Given the description of an element on the screen output the (x, y) to click on. 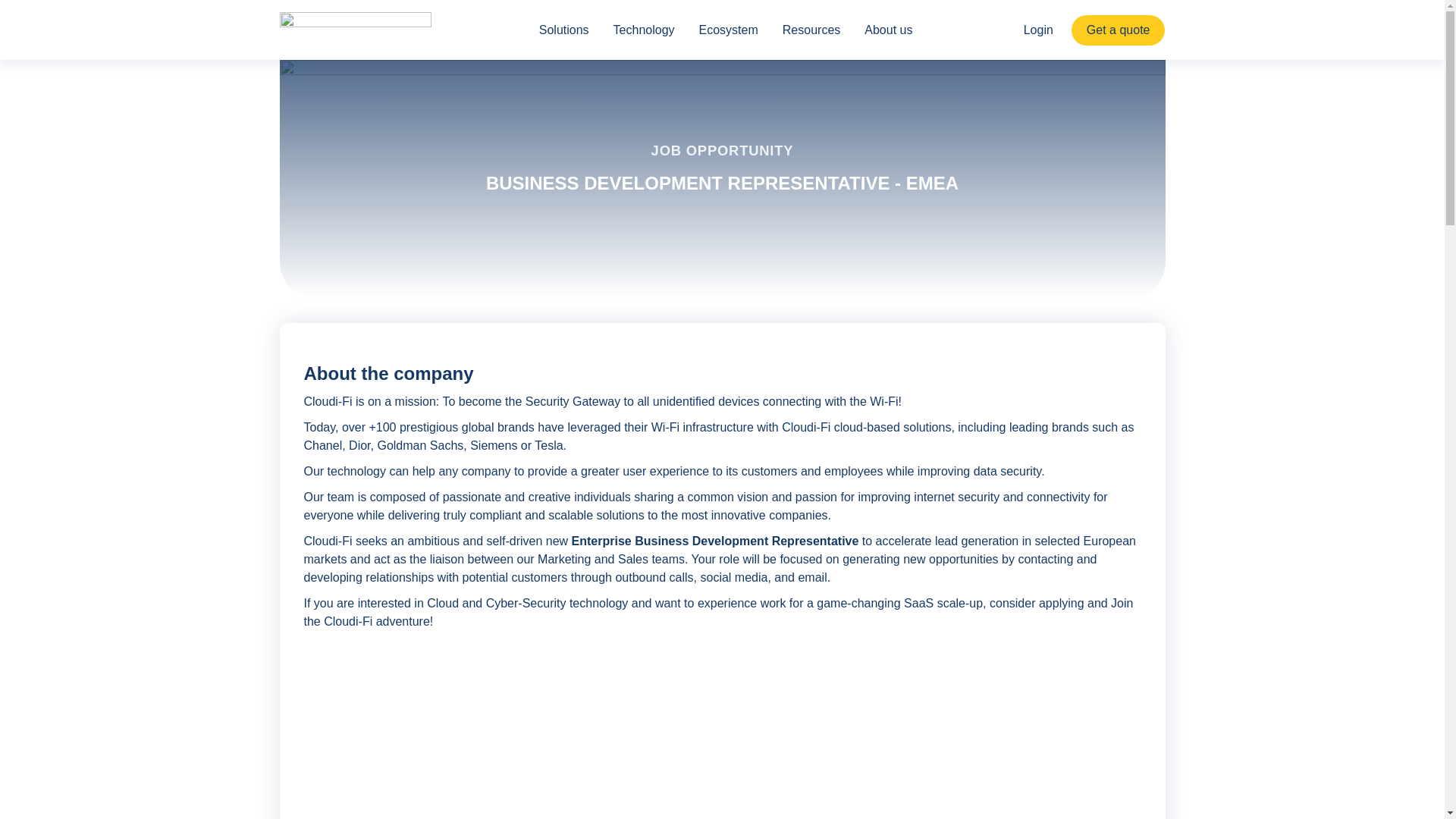
Get a quote (1118, 30)
Login (1038, 30)
YouTube embed (721, 740)
